Given the description of an element on the screen output the (x, y) to click on. 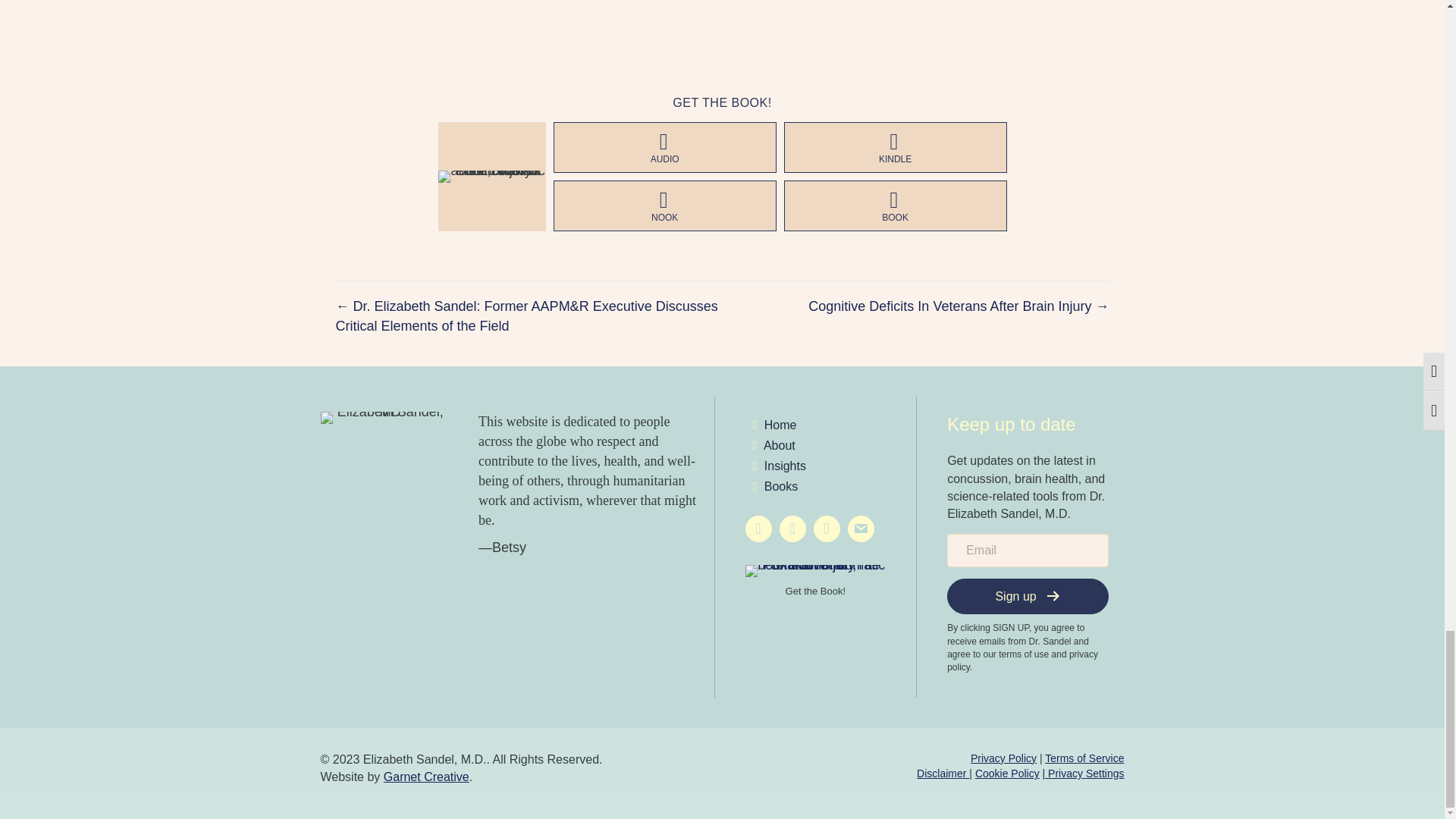
betsy-blue (384, 417)
book-front (492, 176)
book-front (814, 571)
